Given the description of an element on the screen output the (x, y) to click on. 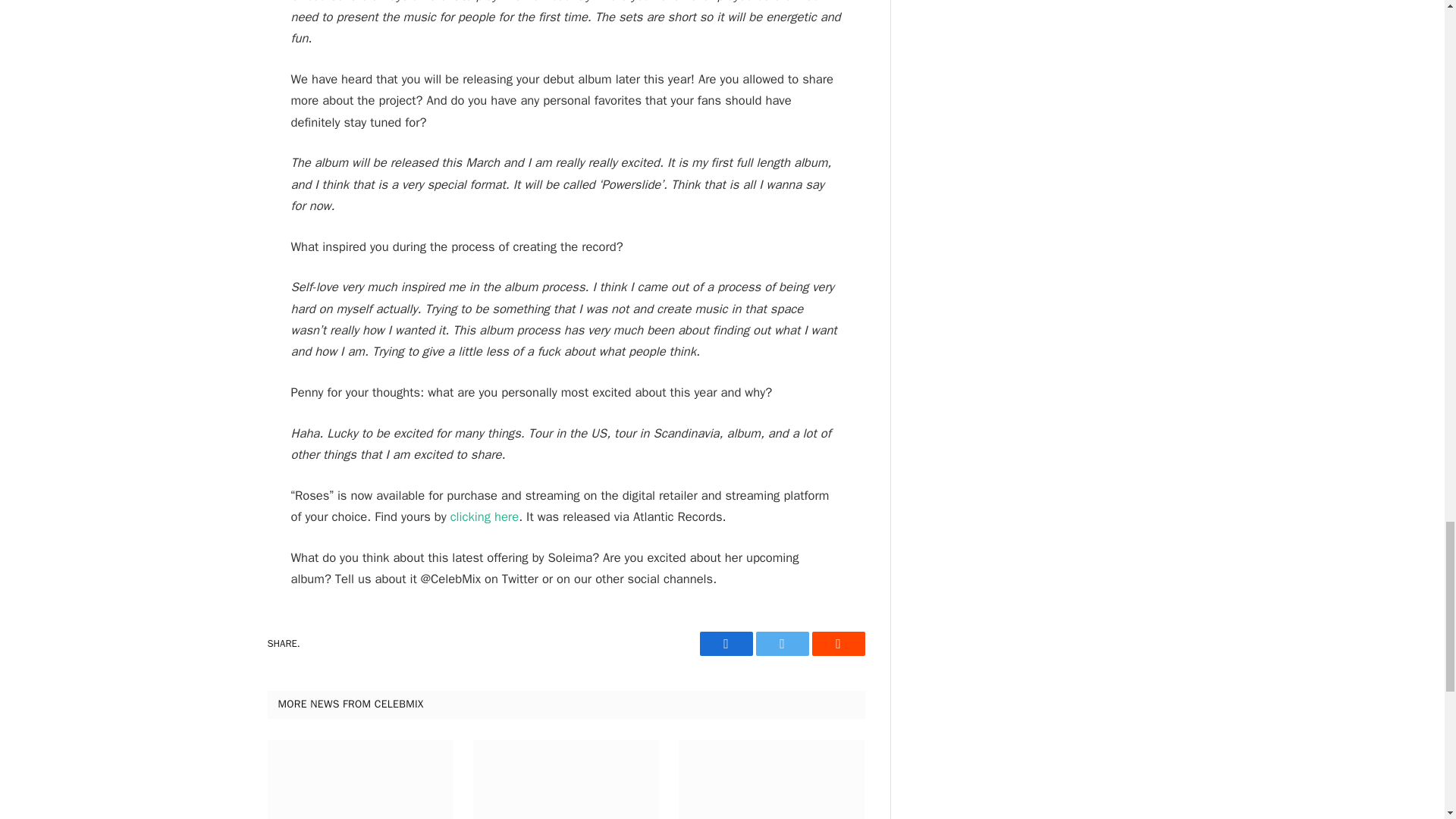
Facebook (725, 643)
Twitter (781, 643)
Reddit (837, 643)
clicking here (483, 516)
